Given the description of an element on the screen output the (x, y) to click on. 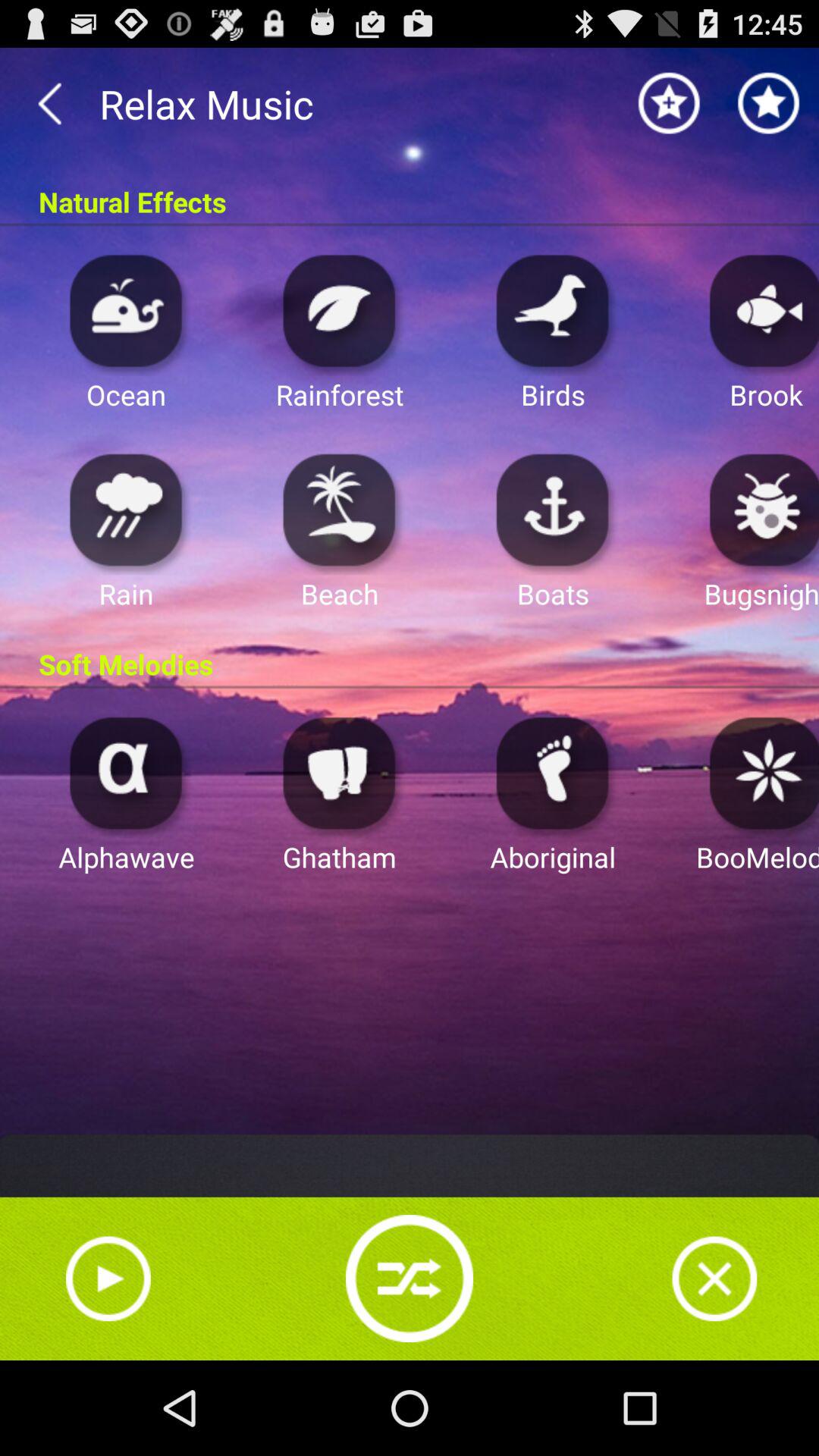
open alphawave (126, 772)
